Given the description of an element on the screen output the (x, y) to click on. 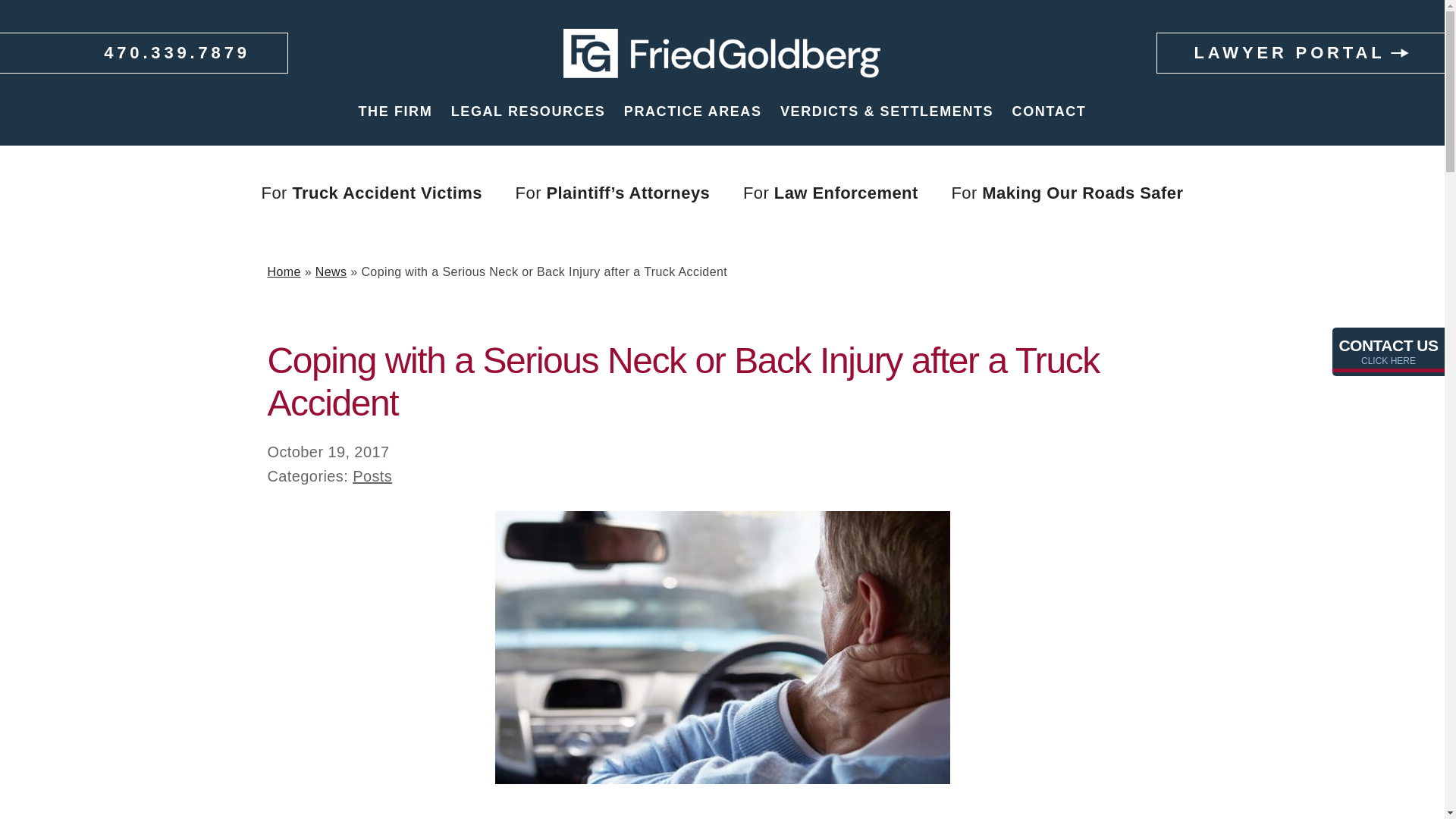
LEGAL RESOURCES (528, 111)
PRACTICE AREAS (692, 111)
THE FIRM (395, 111)
